Given the description of an element on the screen output the (x, y) to click on. 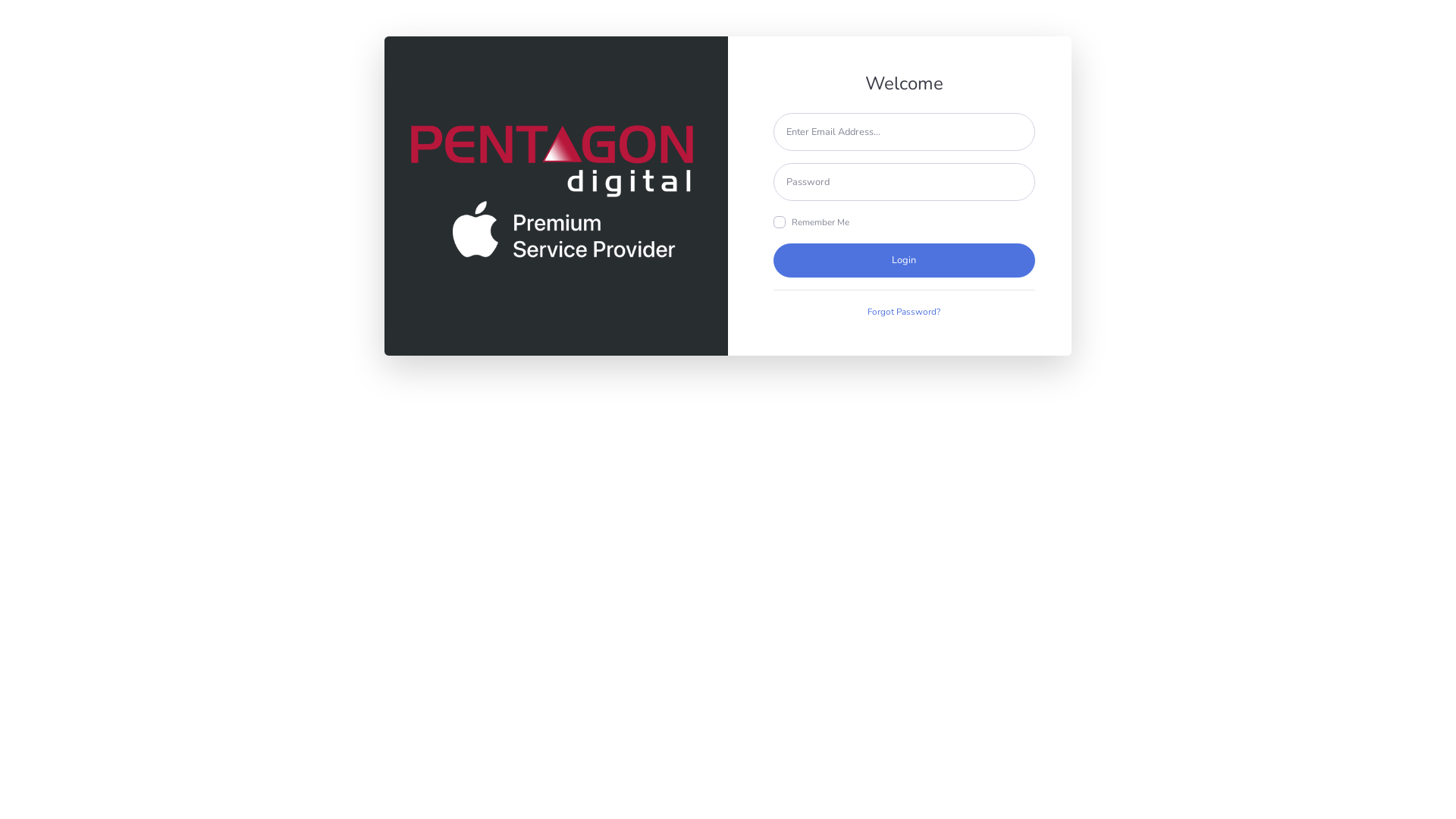
Forgot Password? Element type: text (903, 311)
Login Element type: text (904, 260)
